Given the description of an element on the screen output the (x, y) to click on. 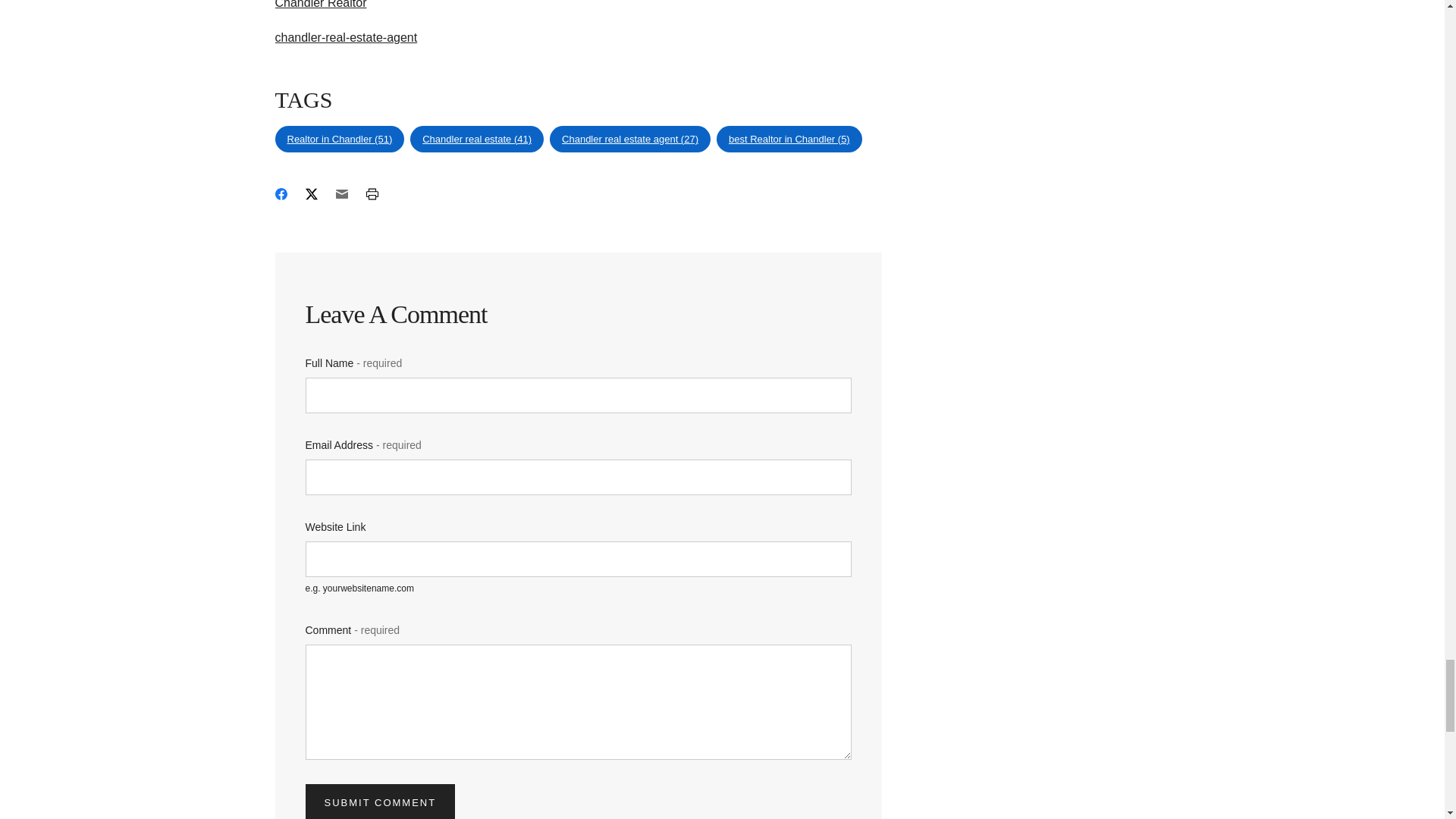
Chandler real estate agent (630, 139)
Chandler real estate (476, 139)
chandler-real-estate-agent (345, 37)
Chandler Realtor (320, 4)
Realtor in Chandler (339, 139)
best Realtor in Chandler (788, 139)
